Given the description of an element on the screen output the (x, y) to click on. 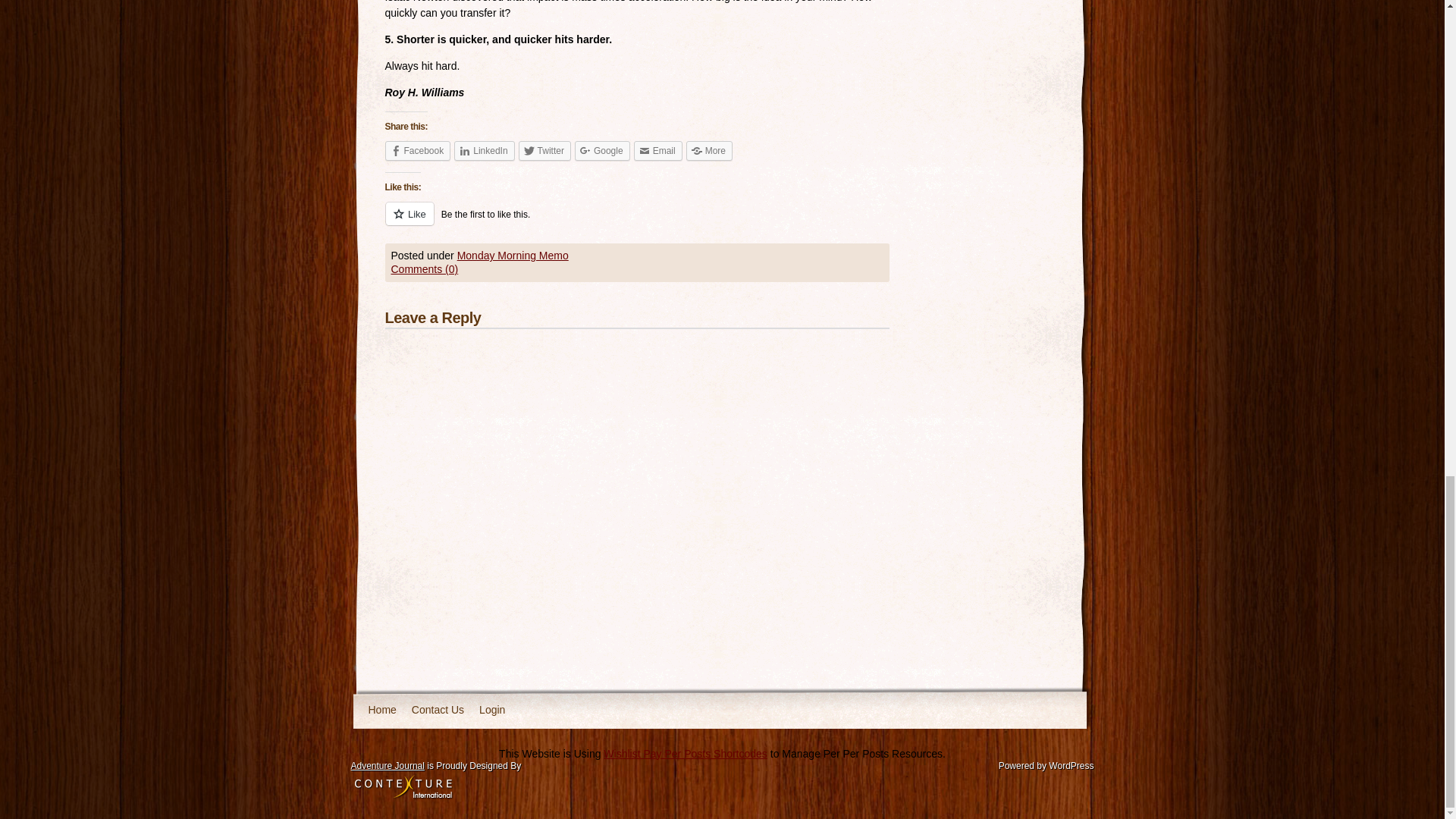
Google (602, 150)
Twitter (544, 150)
Facebook (418, 150)
More (708, 150)
Email (657, 150)
LinkedIn (483, 150)
Monday Morning Memo (513, 255)
Click to share on Twitter (544, 150)
Click to email this to a friend (657, 150)
Share on Facebook (418, 150)
Click to share on LinkedIn (483, 150)
